Given the description of an element on the screen output the (x, y) to click on. 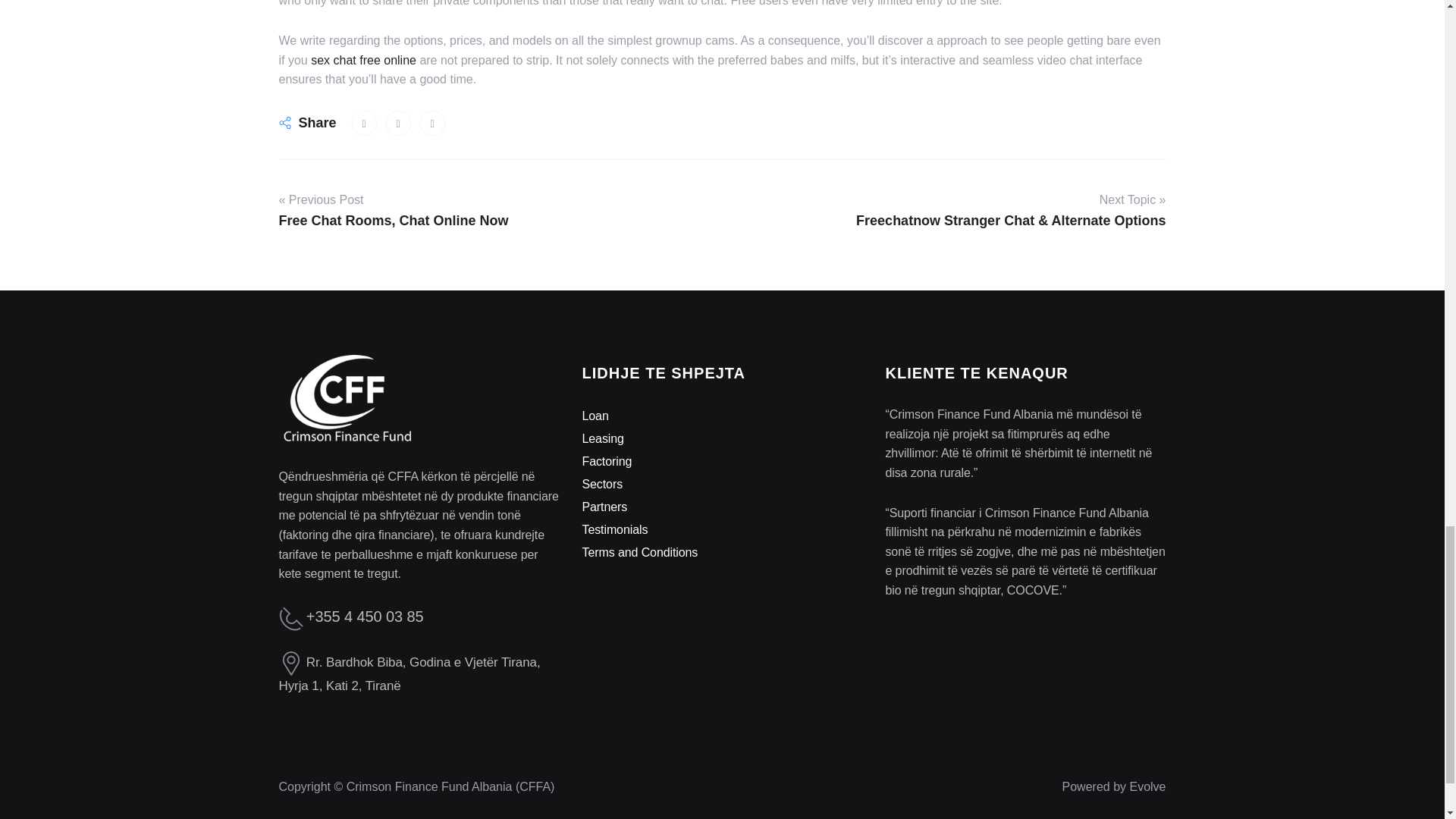
Sexchat (432, 122)
Loan (594, 415)
Sexchat (398, 122)
Leasing (601, 438)
Sexchat (363, 122)
Sectors (601, 483)
Factoring (605, 461)
sex chat free online (363, 60)
